Given the description of an element on the screen output the (x, y) to click on. 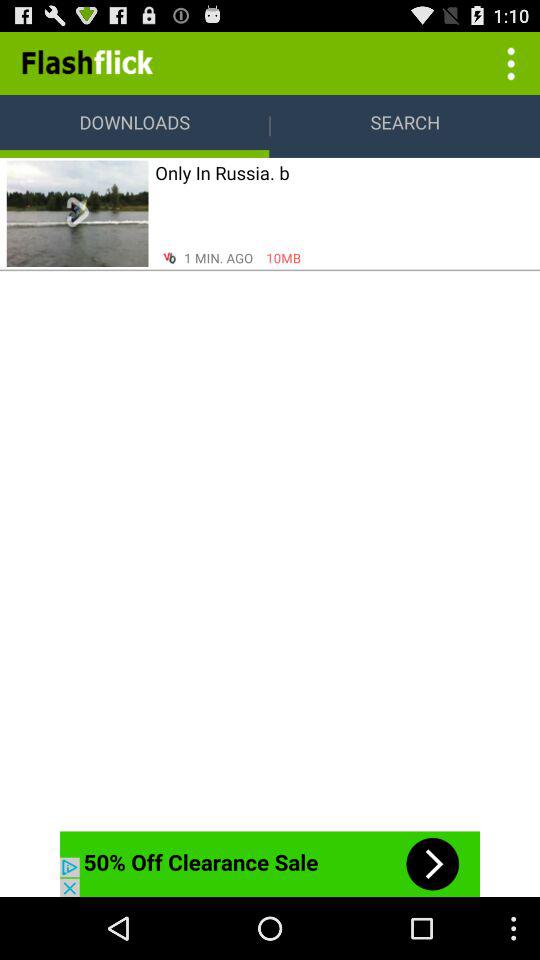
manu button (508, 62)
